Given the description of an element on the screen output the (x, y) to click on. 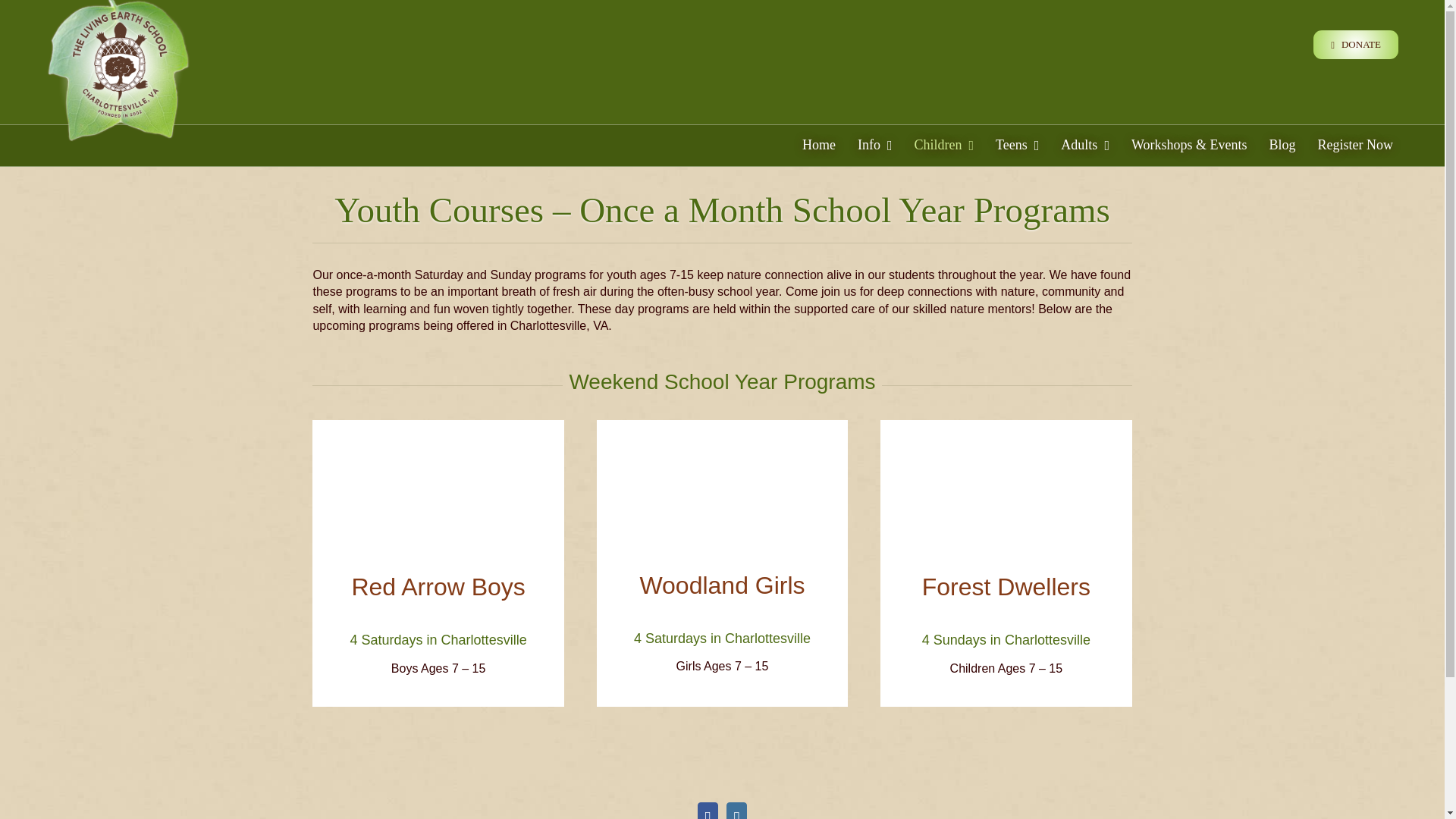
Children (943, 145)
Facebook (707, 810)
DONATE (1355, 44)
Teens (1016, 145)
Instagram (736, 810)
Adults (1085, 145)
Info (874, 145)
Home (818, 145)
